Given the description of an element on the screen output the (x, y) to click on. 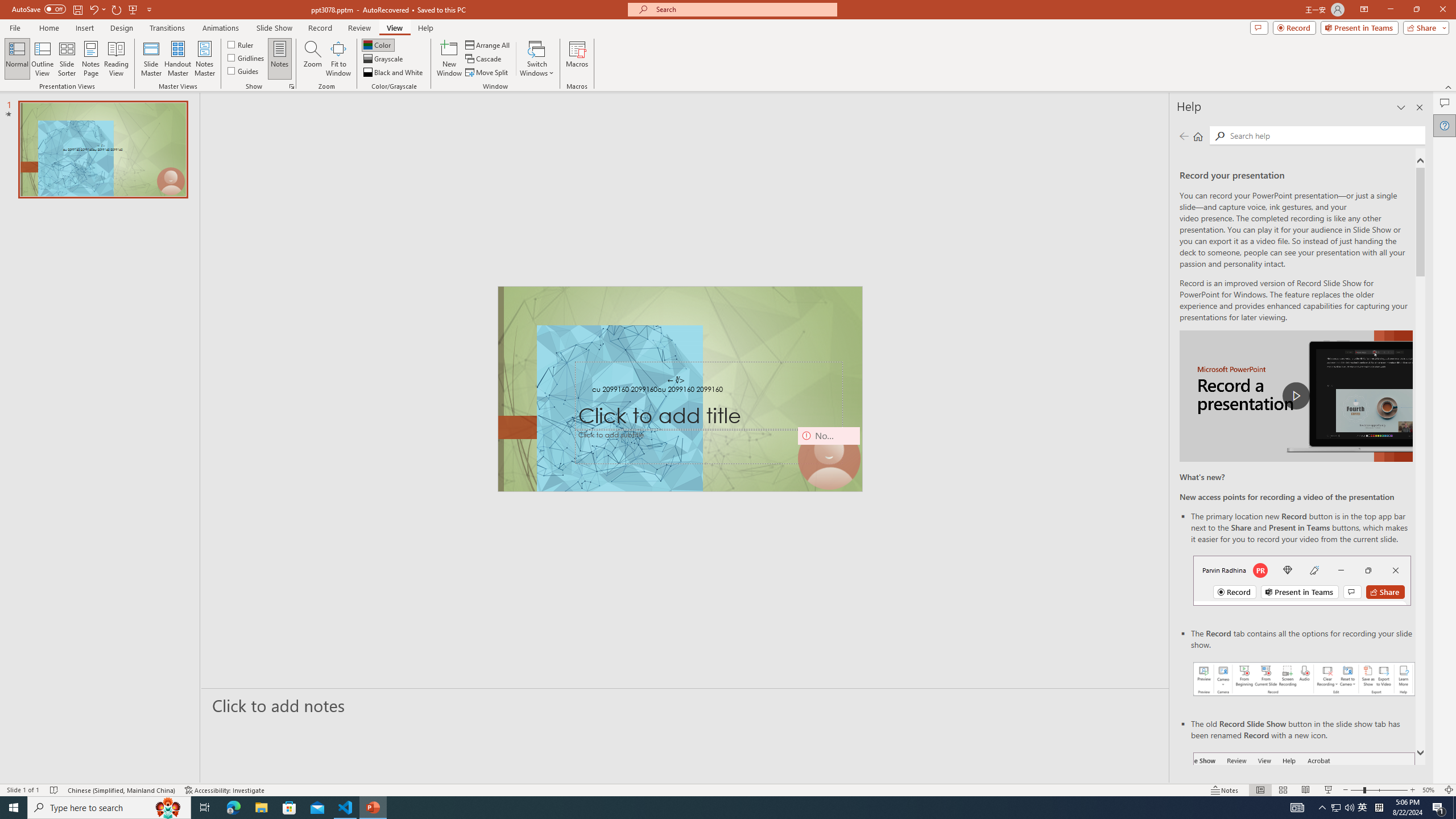
Black and White (393, 72)
Arrange All (488, 44)
Guides (243, 69)
play Record a Presentation (1296, 395)
Gridlines (246, 56)
